Given the description of an element on the screen output the (x, y) to click on. 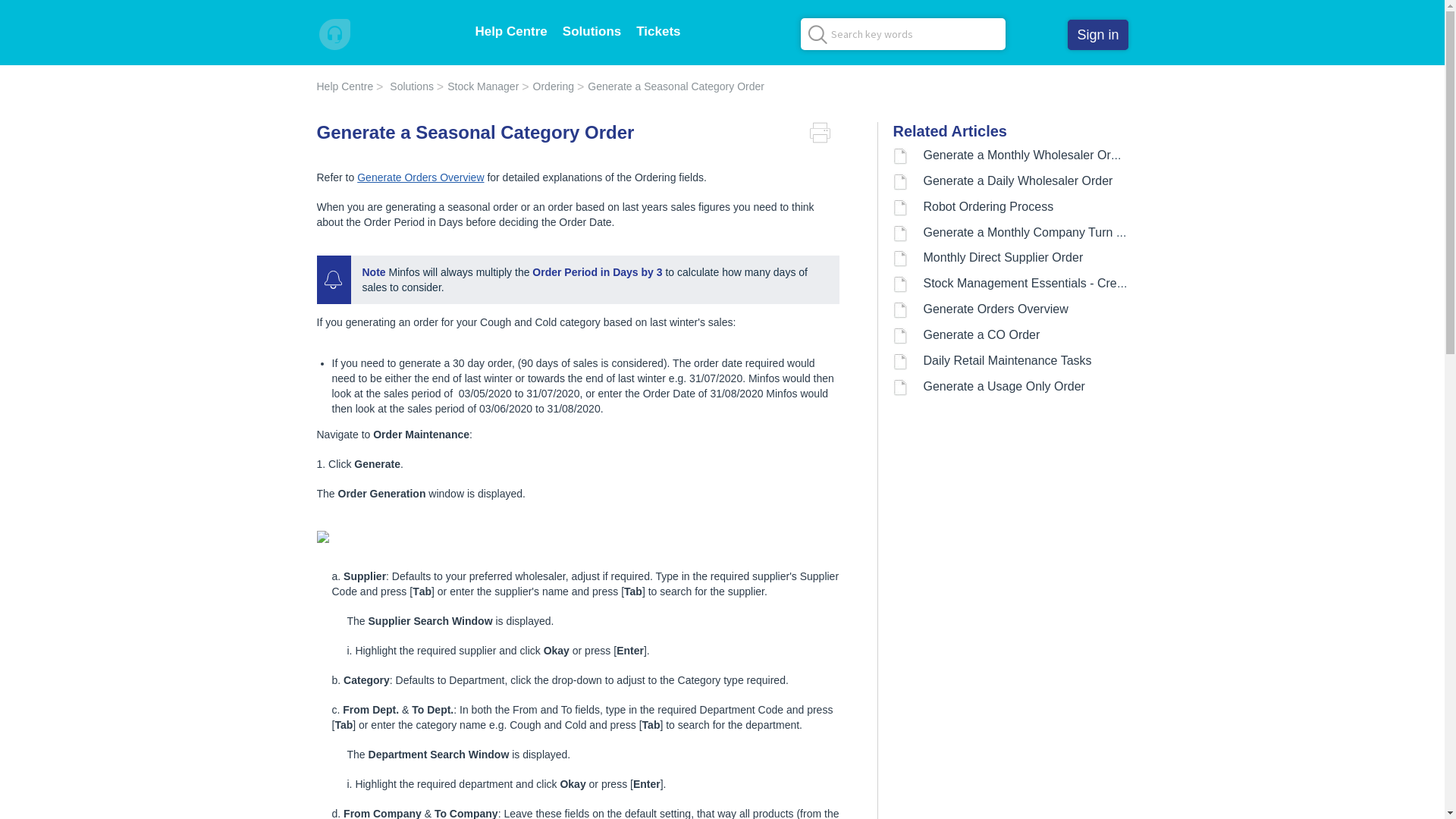
Generate a Usage Only Order Element type: text (1004, 385)
Ordering Element type: text (547, 86)
Help Centre Element type: text (344, 86)
Generate Orders Overview Element type: text (420, 177)
Monthly Direct Supplier Order Element type: text (1003, 257)
Generate Orders Overview Element type: text (995, 308)
Solutions Element type: text (406, 86)
Generate a Seasonal Category Order Element type: text (670, 86)
Sign in Element type: text (1097, 34)
Generate a Daily Wholesaler Order Element type: text (1018, 180)
Tickets Element type: text (658, 31)
Help Centre Element type: text (510, 31)
Robot Ordering Process Element type: text (988, 206)
Generate a Monthly Company Turn Over Order Element type: text (1049, 231)
Print Element type: text (824, 133)
Stock Manager Element type: text (477, 86)
Stock Management Essentials - Create orders Element type: text (1047, 282)
Generate a CO Order Element type: text (981, 334)
Daily Retail Maintenance Tasks Element type: text (1007, 360)
Generate a Monthly Wholesaler Order Element type: text (1025, 154)
Solutions Element type: text (591, 31)
